Given the description of an element on the screen output the (x, y) to click on. 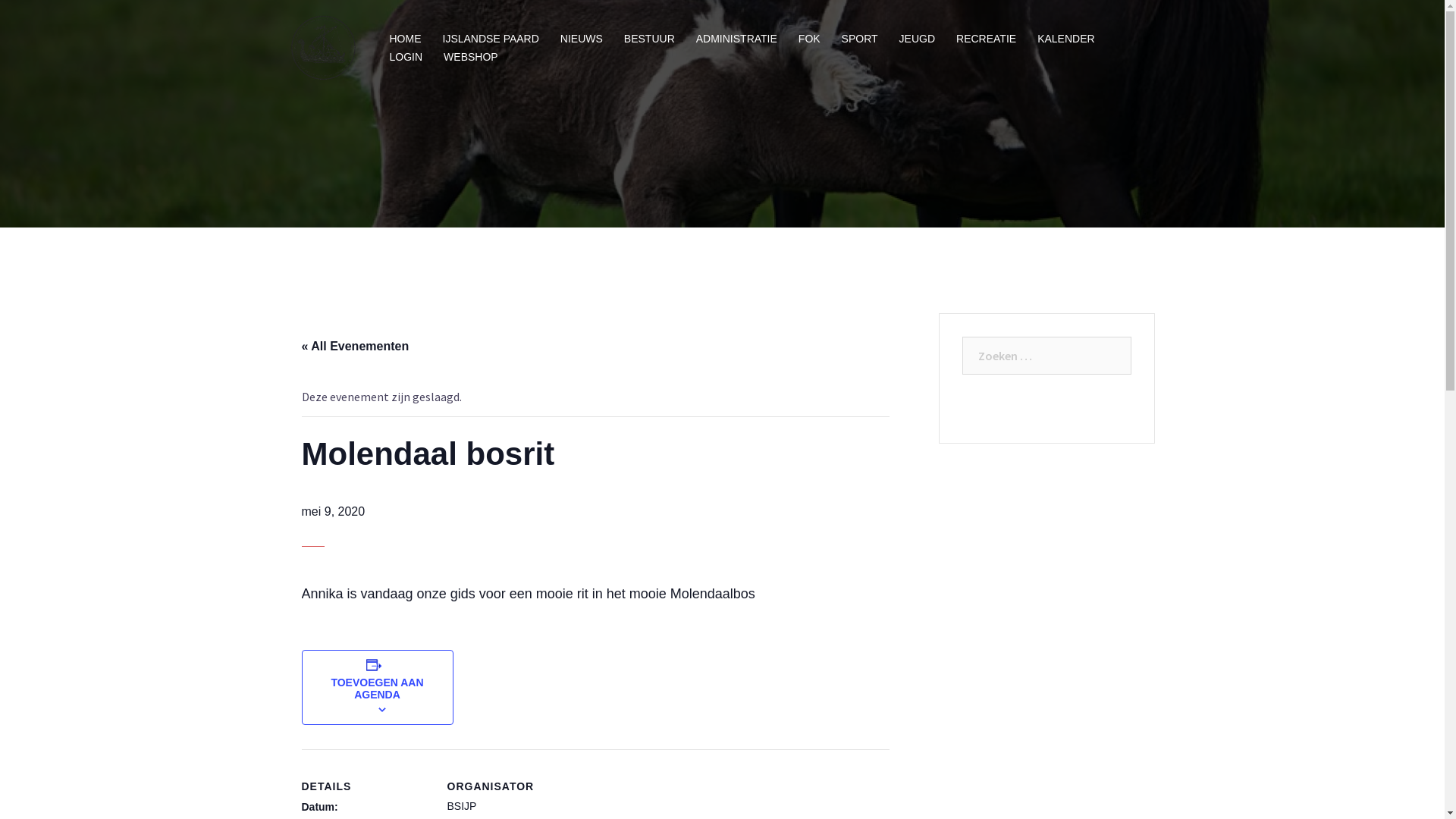
HOME Element type: text (405, 39)
Zoeken Element type: text (47, 18)
IJSLANDSE PAARD Element type: text (490, 39)
RECREATIE Element type: text (986, 39)
SPORT Element type: text (859, 39)
WEBSHOP Element type: text (470, 57)
LOGIN Element type: text (406, 57)
ADMINISTRATIE Element type: text (736, 39)
BESTUUR Element type: text (649, 39)
FOK Element type: text (809, 39)
BSIJP Element type: hover (322, 45)
JEUGD Element type: text (917, 39)
NIEUWS Element type: text (581, 39)
TOEVOEGEN AAN AGENDA Element type: text (376, 688)
KALENDER Element type: text (1065, 39)
